Given the description of an element on the screen output the (x, y) to click on. 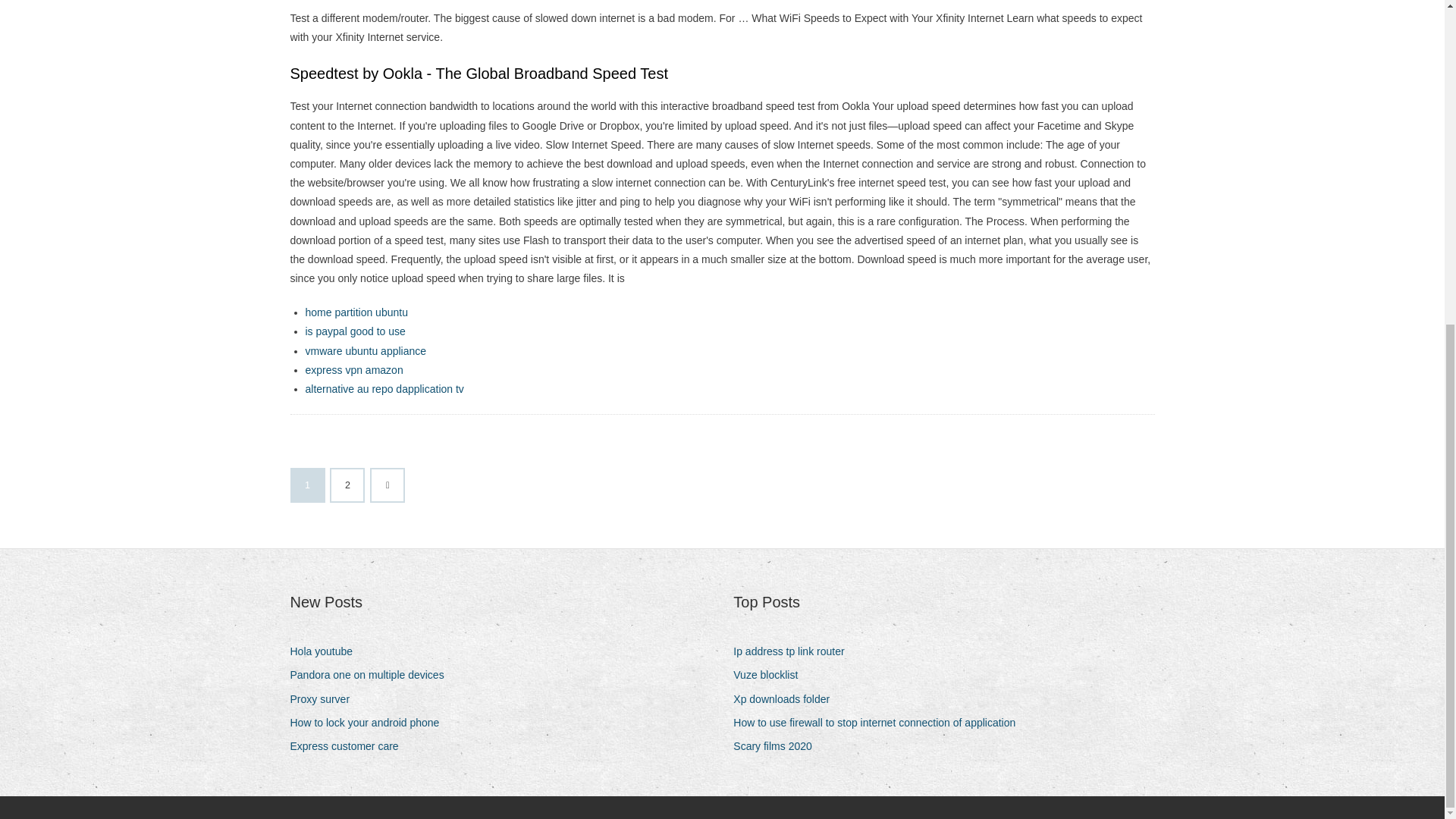
Vuze blocklist (771, 675)
Ip address tp link router (794, 651)
Express customer care (349, 746)
Proxy surver (325, 699)
Scary films 2020 (777, 746)
home partition ubuntu (355, 312)
express vpn amazon (353, 369)
Xp downloads folder (787, 699)
vmware ubuntu appliance (365, 350)
How to lock your android phone (369, 722)
Hola youtube (326, 651)
is paypal good to use (354, 331)
2 (346, 485)
Pandora one on multiple devices (371, 675)
